Given the description of an element on the screen output the (x, y) to click on. 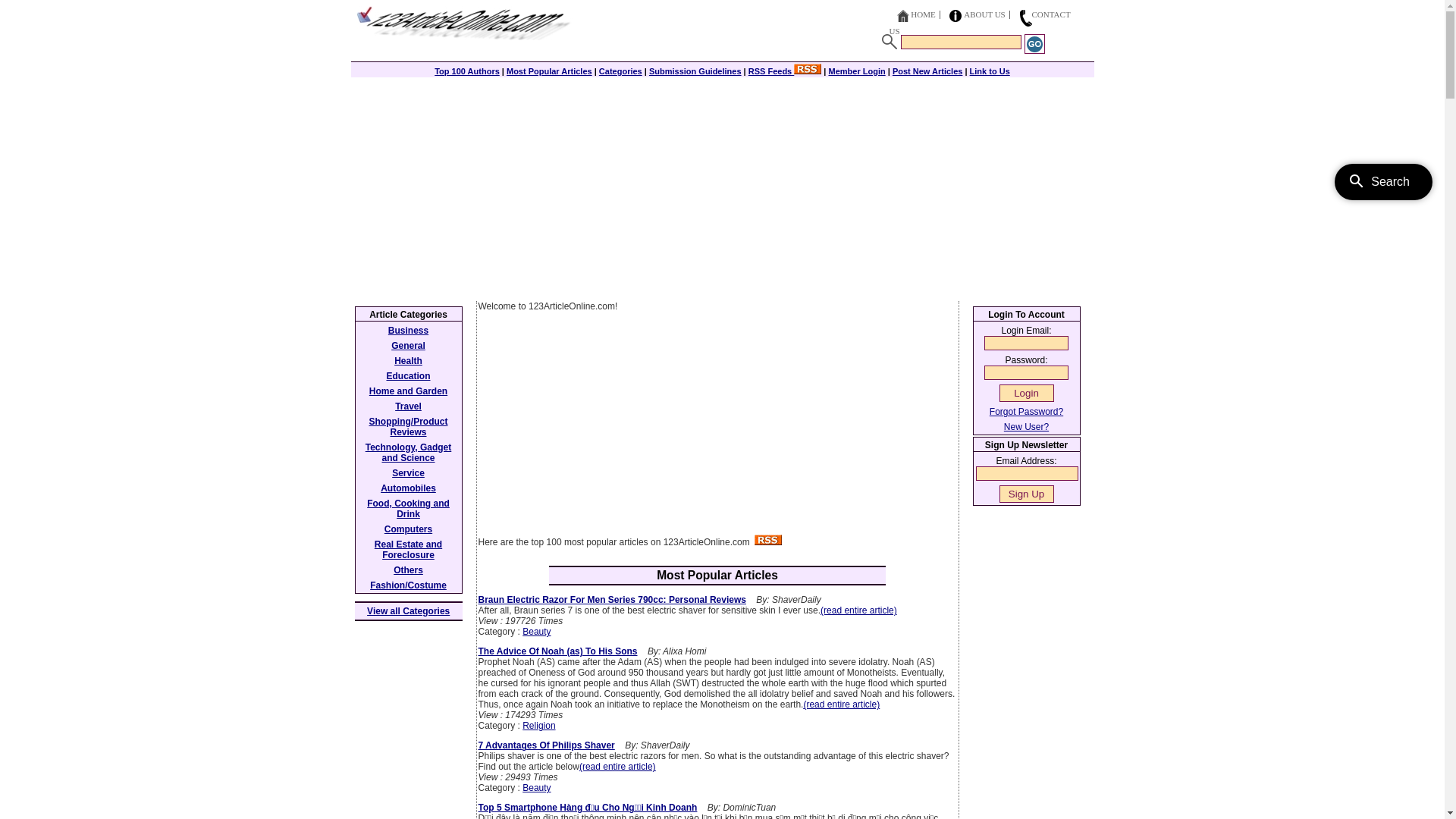
Travel Element type: text (408, 406)
Health Element type: text (408, 360)
Religion Element type: text (538, 725)
Education Element type: text (407, 375)
7 Advantages Of Philips Shaver Element type: text (545, 745)
Business Element type: text (408, 330)
Others Element type: text (408, 569)
General Element type: text (408, 345)
Forgot Password? Element type: text (1026, 411)
Sign Up Element type: text (1026, 493)
Advertisement Element type: hover (721, 187)
Fashion/Costume Element type: text (408, 585)
RSS Feeds Element type: text (785, 70)
Food, Cooking and Drink Element type: text (408, 508)
Member Login Element type: text (856, 70)
Technology, Gadget and Science Element type: text (408, 452)
Categories Element type: text (620, 70)
Most Popular Articles Element type: text (549, 70)
New User? Element type: text (1026, 426)
CONTACT US Element type: text (979, 22)
Home and Garden Element type: text (408, 390)
Shopping/Product Reviews Element type: text (407, 426)
View all Categories Element type: text (408, 610)
Link to Us Element type: text (989, 70)
Top 100 Authors Element type: text (466, 70)
Login Element type: text (1026, 392)
HOME Element type: text (922, 13)
(read entire article) Element type: text (841, 704)
Computers Element type: text (408, 529)
Service Element type: text (408, 472)
Beauty Element type: text (536, 787)
(read entire article) Element type: text (617, 766)
ABOUT US Element type: text (984, 13)
Real Estate and Foreclosure Element type: text (408, 549)
The Advice Of Noah (as) To His Sons Element type: text (557, 651)
Braun Electric Razor For Men Series 790cc: Personal Reviews Element type: text (611, 599)
Post New Articles Element type: text (927, 70)
Automobiles Element type: text (408, 488)
Beauty Element type: text (536, 631)
(read entire article) Element type: text (858, 610)
Submission Guidelines Element type: text (695, 70)
Advertisement Element type: hover (716, 428)
